Given the description of an element on the screen output the (x, y) to click on. 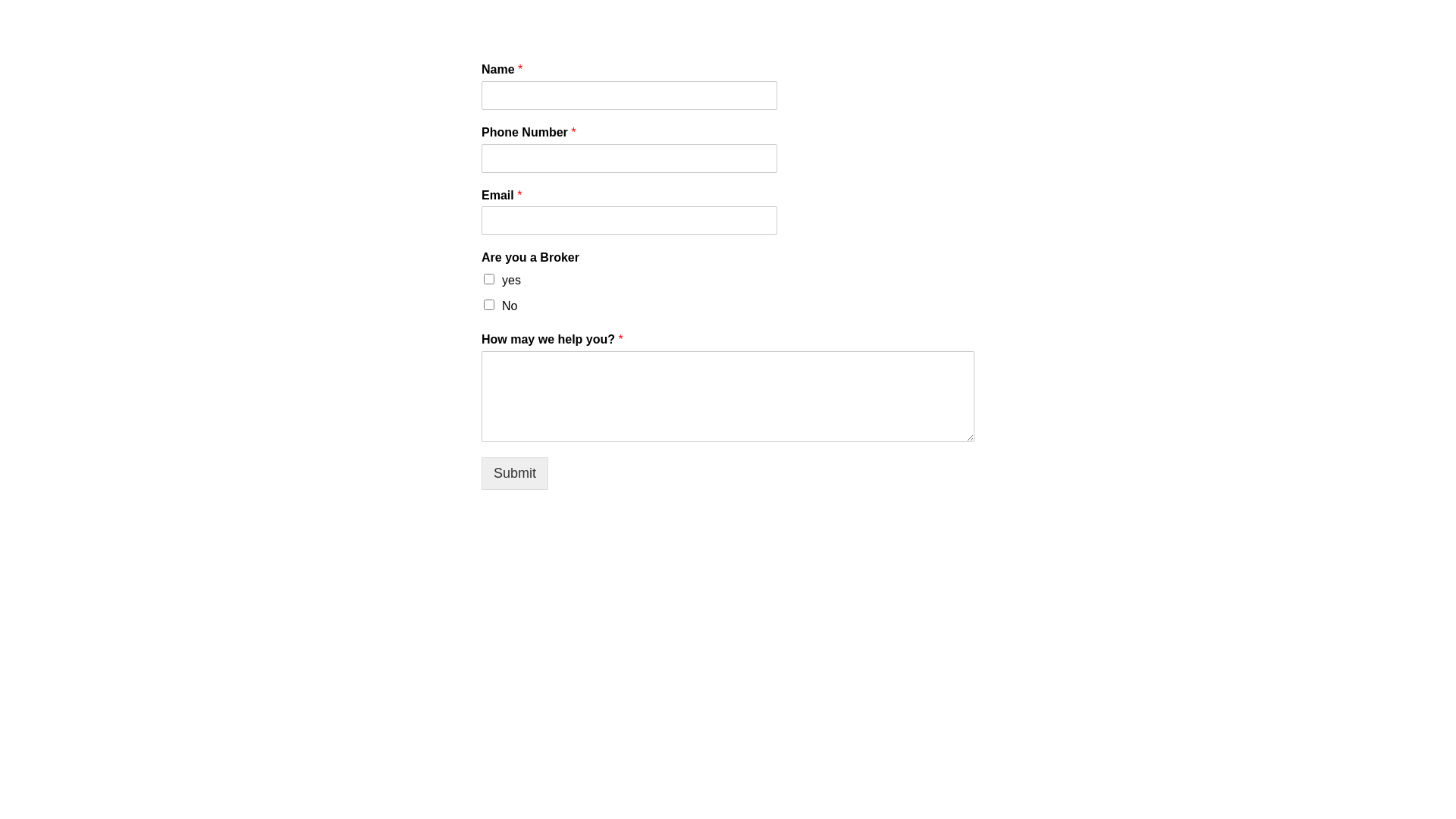
Submit Element type: text (514, 473)
